Given the description of an element on the screen output the (x, y) to click on. 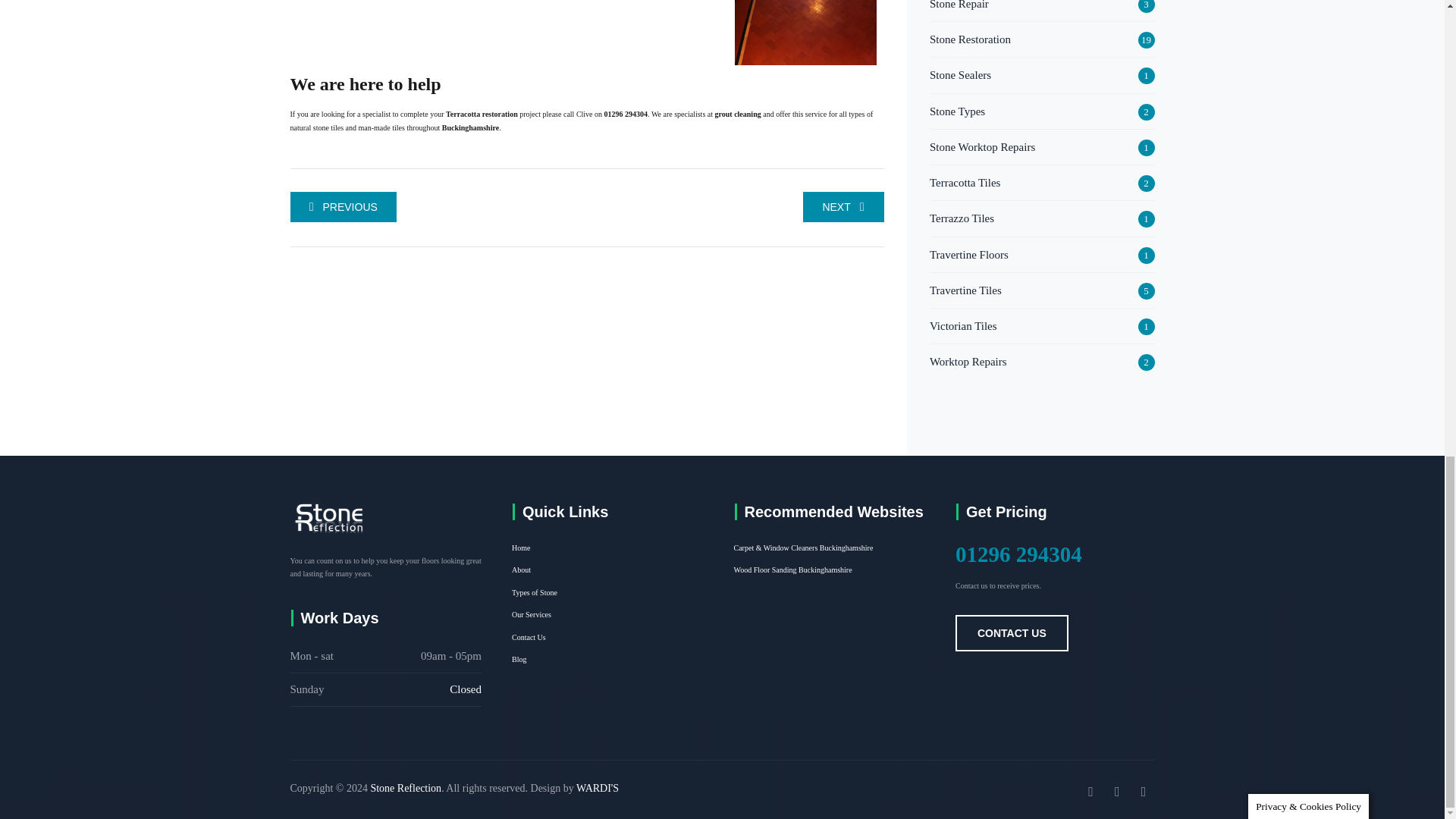
carpet cleaning, window cleaning buckinghamshire (803, 547)
PREVIOUS (342, 206)
Marble Cleaning High Wycombe (342, 206)
floor sanding Buckinghamshire, wood floor cleaning Amersham (792, 569)
01296 294304 (625, 113)
Stone Types (957, 110)
Amtico Flooring Beaconsfield (843, 206)
Services (737, 113)
grout cleaning (737, 113)
Stone Sealers (960, 75)
NEXT (843, 206)
Stone Repair (959, 6)
Stone Restoration (970, 39)
